Given the description of an element on the screen output the (x, y) to click on. 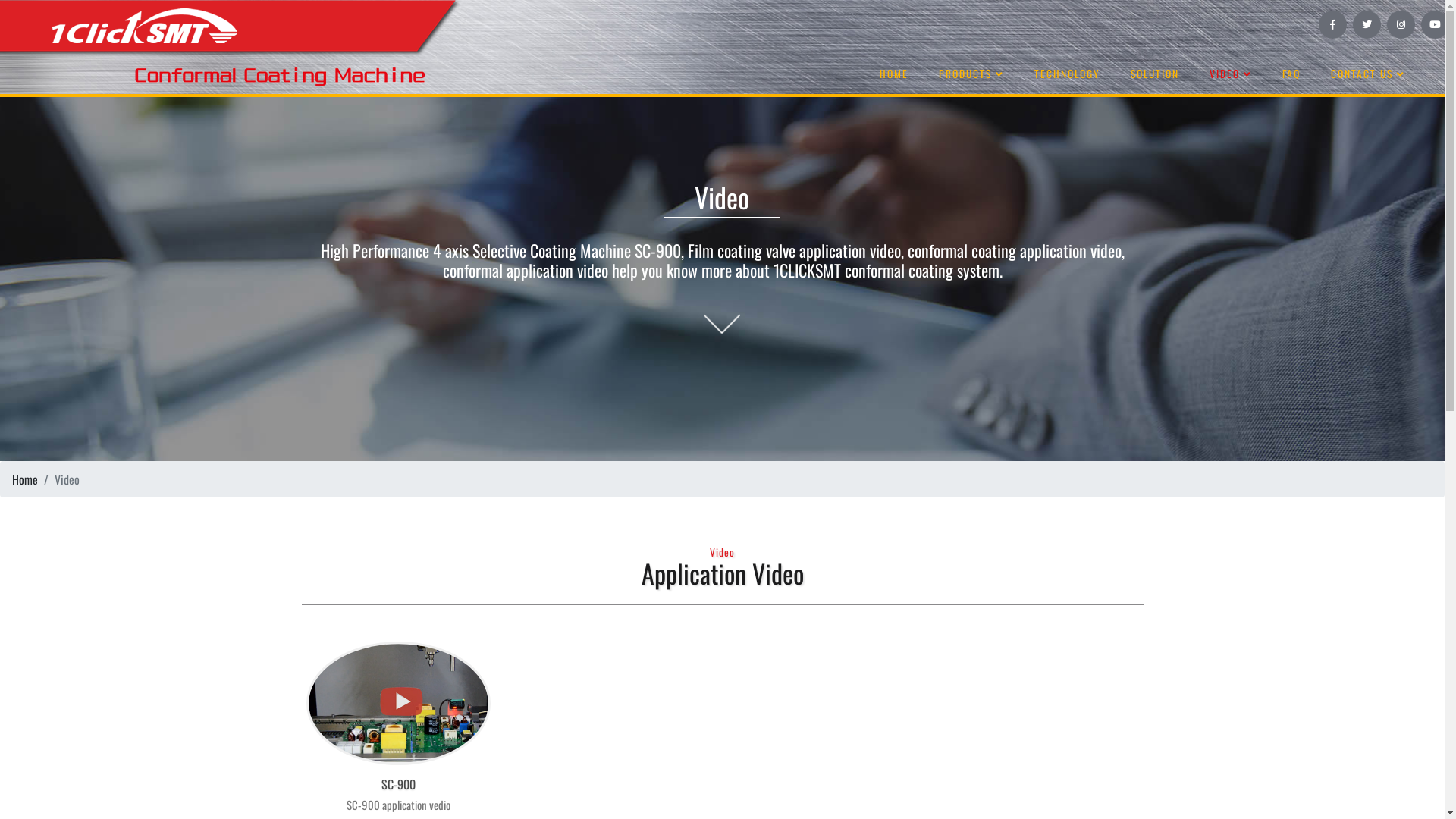
Home Element type: text (24, 479)
VIDEO Element type: text (1230, 73)
CONTACT US Element type: text (1367, 73)
FAQ Element type: text (1290, 73)
TECHNOLOGY Element type: text (1066, 73)
PRODUCTS Element type: text (971, 73)
SOLUTION Element type: text (1154, 73)
HOME Element type: text (893, 73)
